Given the description of an element on the screen output the (x, y) to click on. 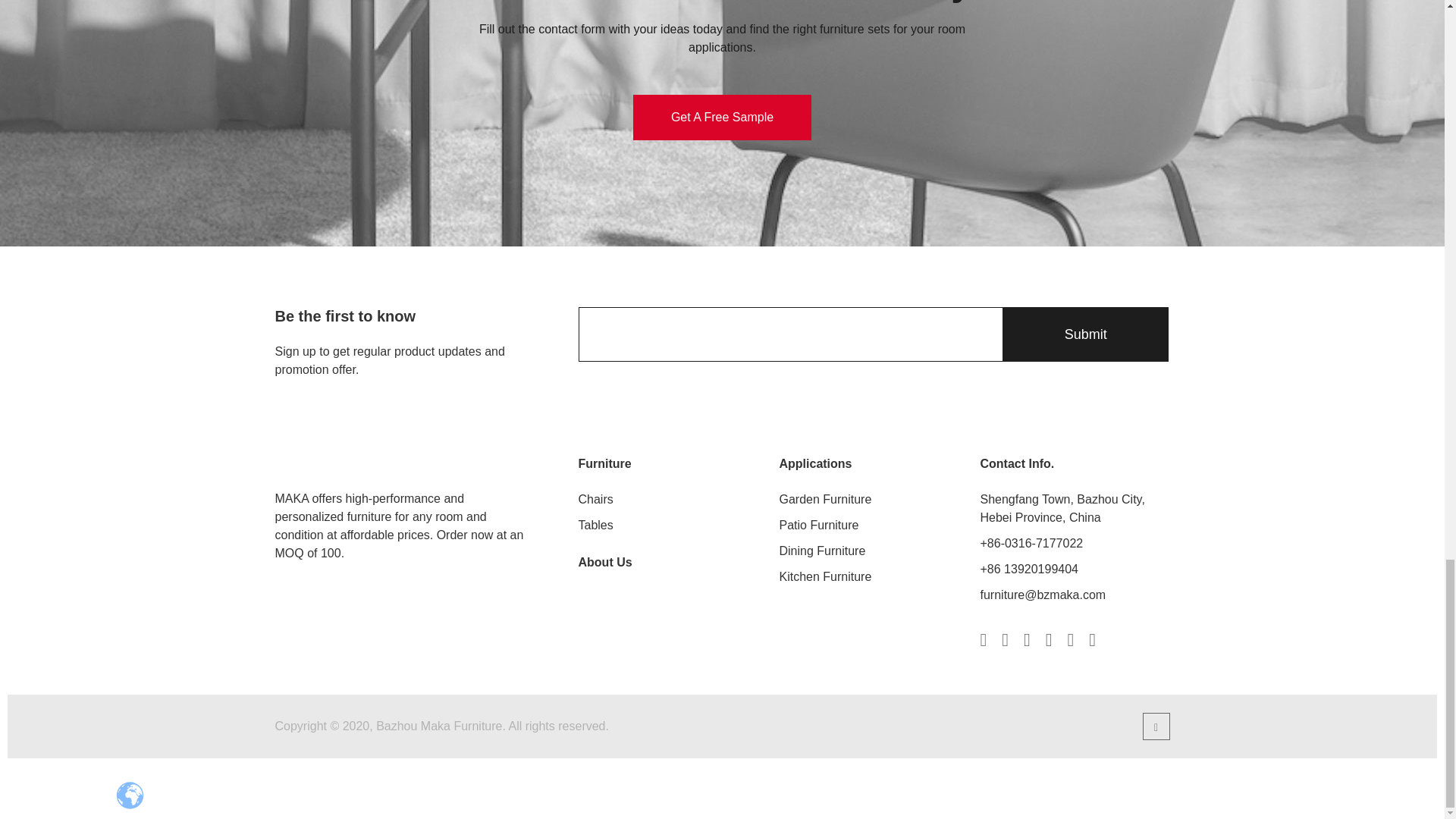
Get A Free Sample (721, 117)
Submit (1085, 334)
Furniture (604, 464)
Submit (1085, 334)
